Given the description of an element on the screen output the (x, y) to click on. 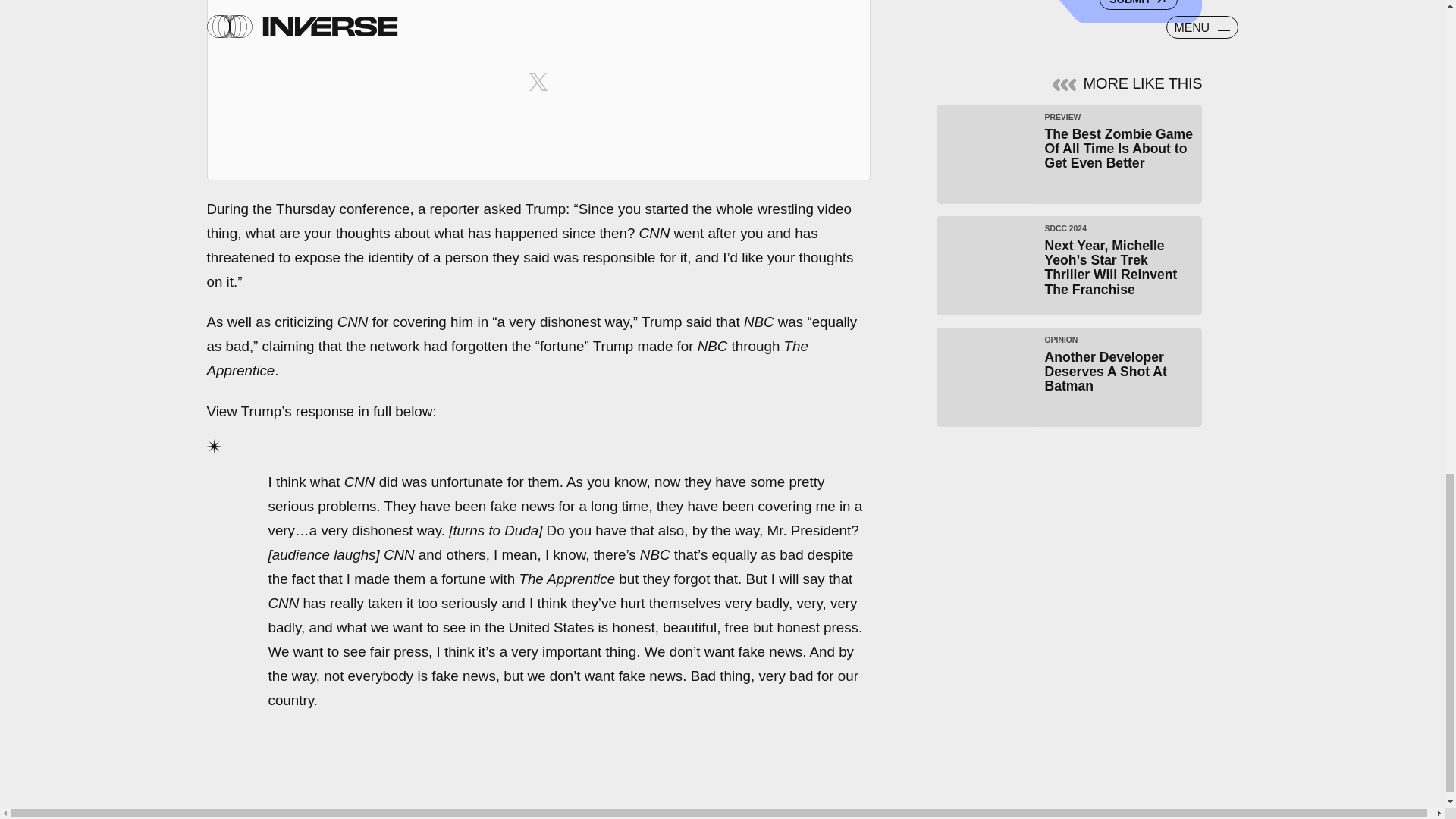
SUBMIT (1138, 5)
